Given the description of an element on the screen output the (x, y) to click on. 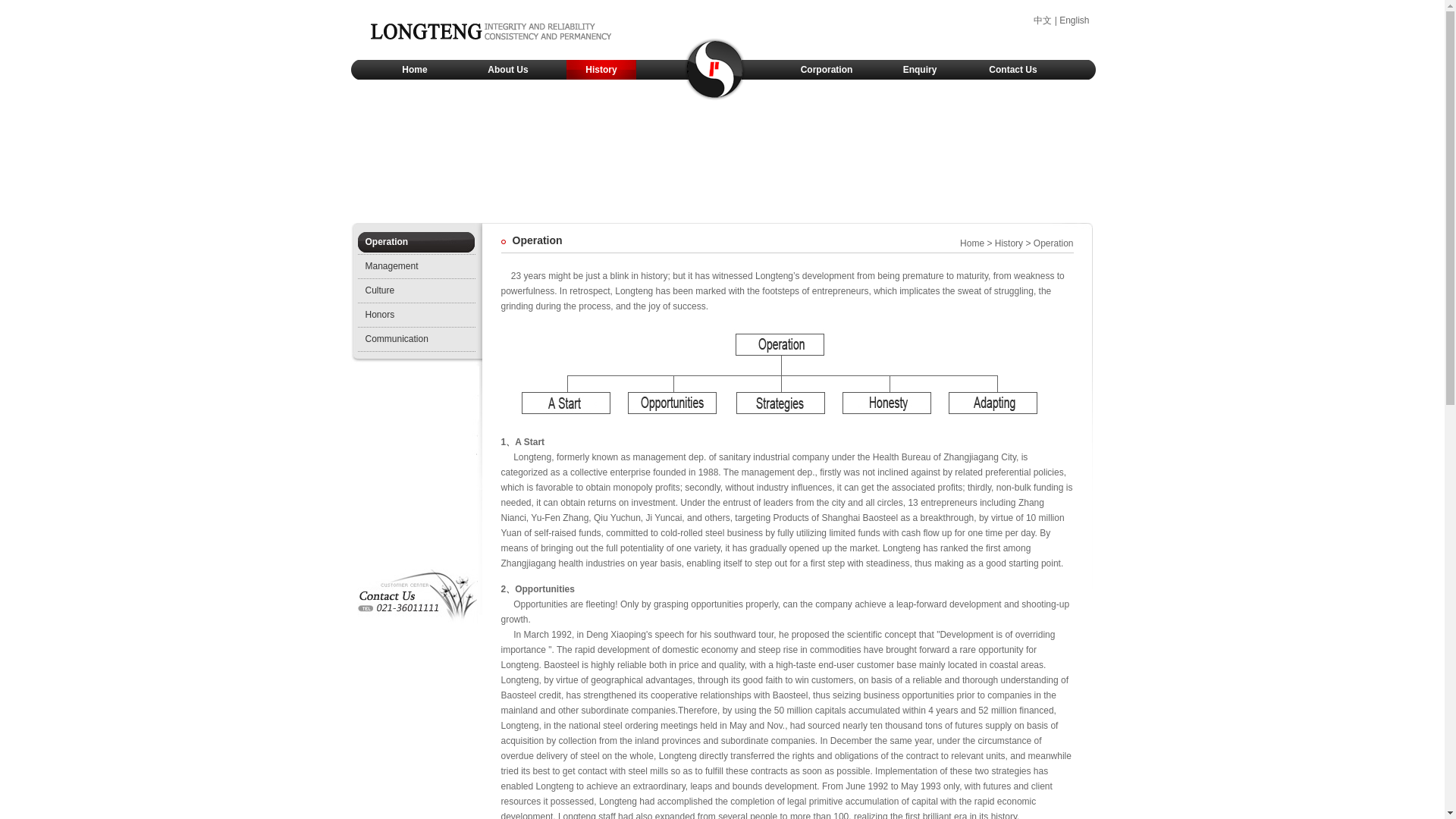
History (1008, 243)
Home (971, 243)
Operation (419, 241)
Communication (419, 339)
Management (419, 266)
Culture (419, 290)
Corporation (825, 69)
English (1074, 20)
About Us (507, 69)
Contact Us (1012, 69)
